Given the description of an element on the screen output the (x, y) to click on. 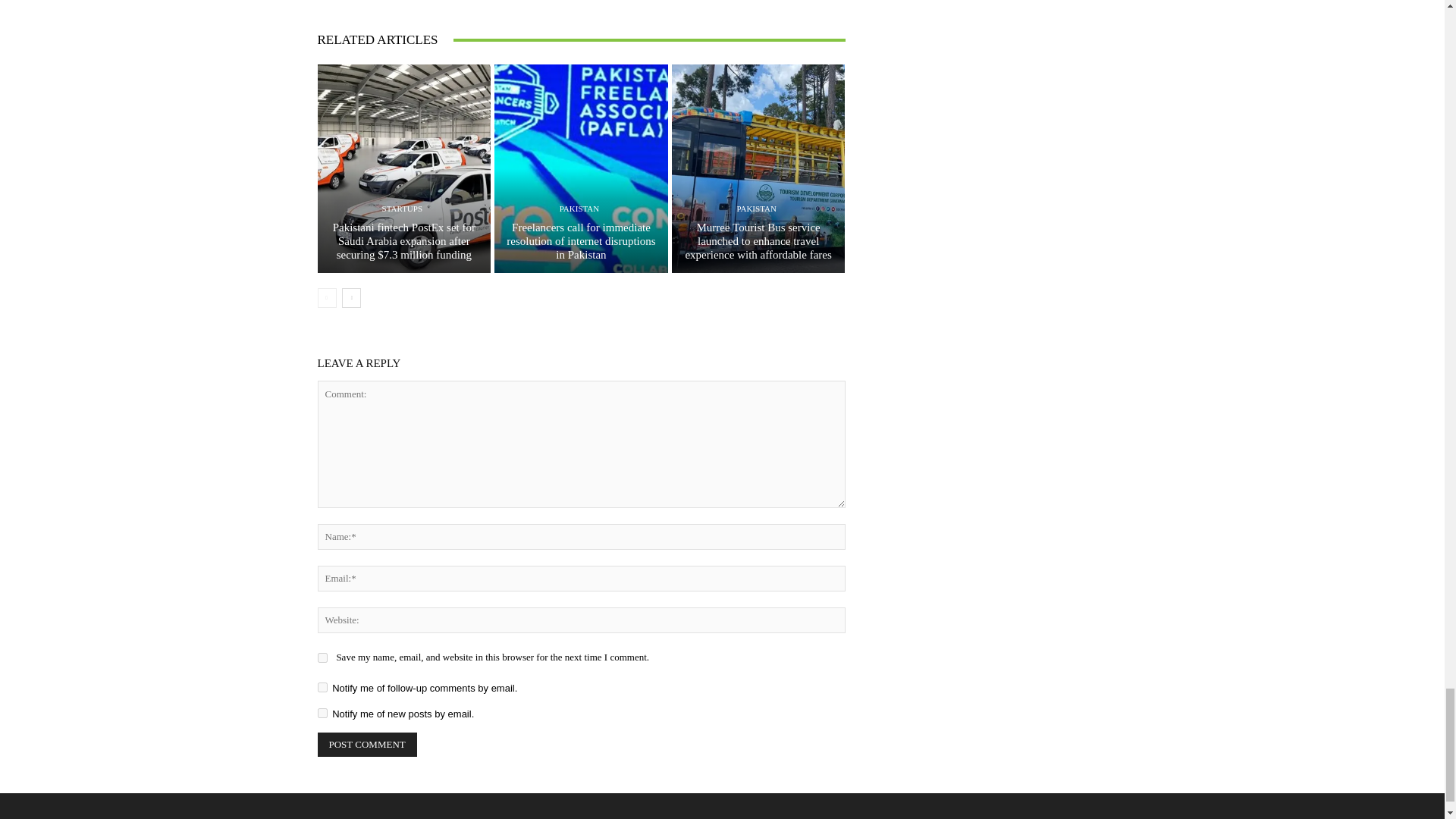
subscribe (321, 713)
subscribe (321, 687)
Post Comment (366, 744)
yes (321, 657)
